Given the description of an element on the screen output the (x, y) to click on. 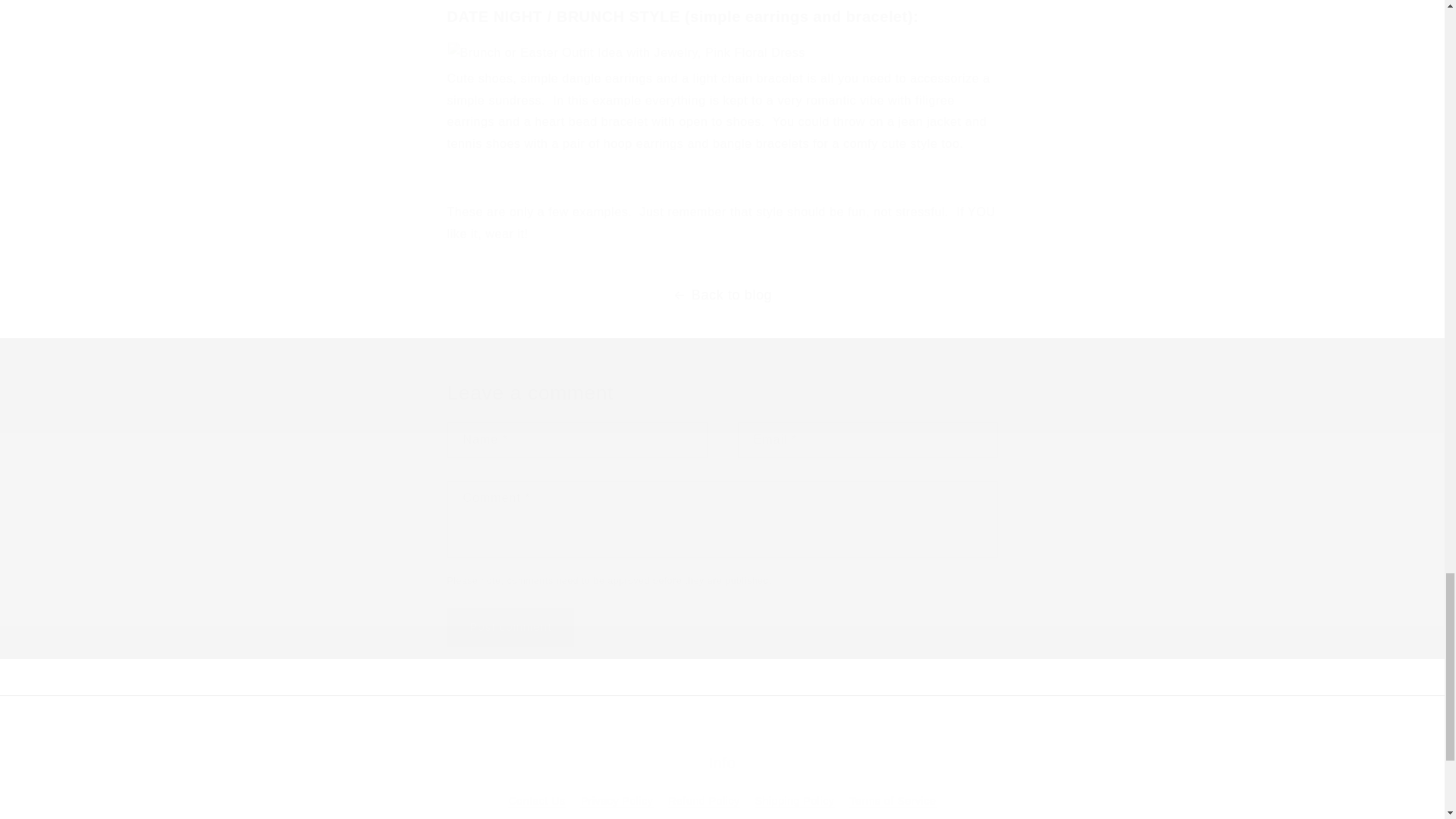
Post comment (510, 627)
